Given the description of an element on the screen output the (x, y) to click on. 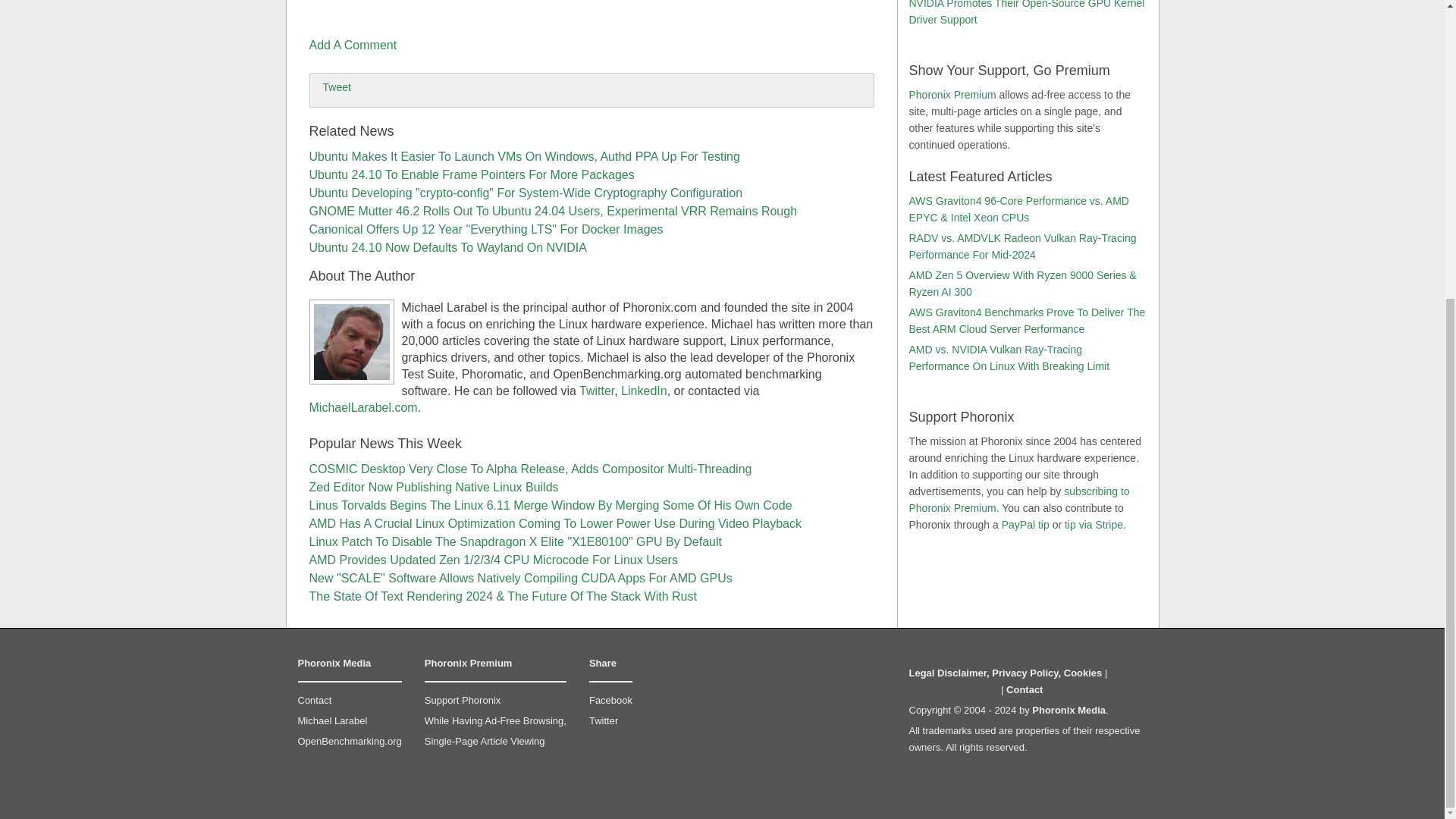
Ubuntu 24.10 Now Defaults To Wayland On NVIDIA (447, 246)
Tweet (336, 87)
Ubuntu 24.10 To Enable Frame Pointers For More Packages (471, 174)
Add A Comment (352, 44)
